Given the description of an element on the screen output the (x, y) to click on. 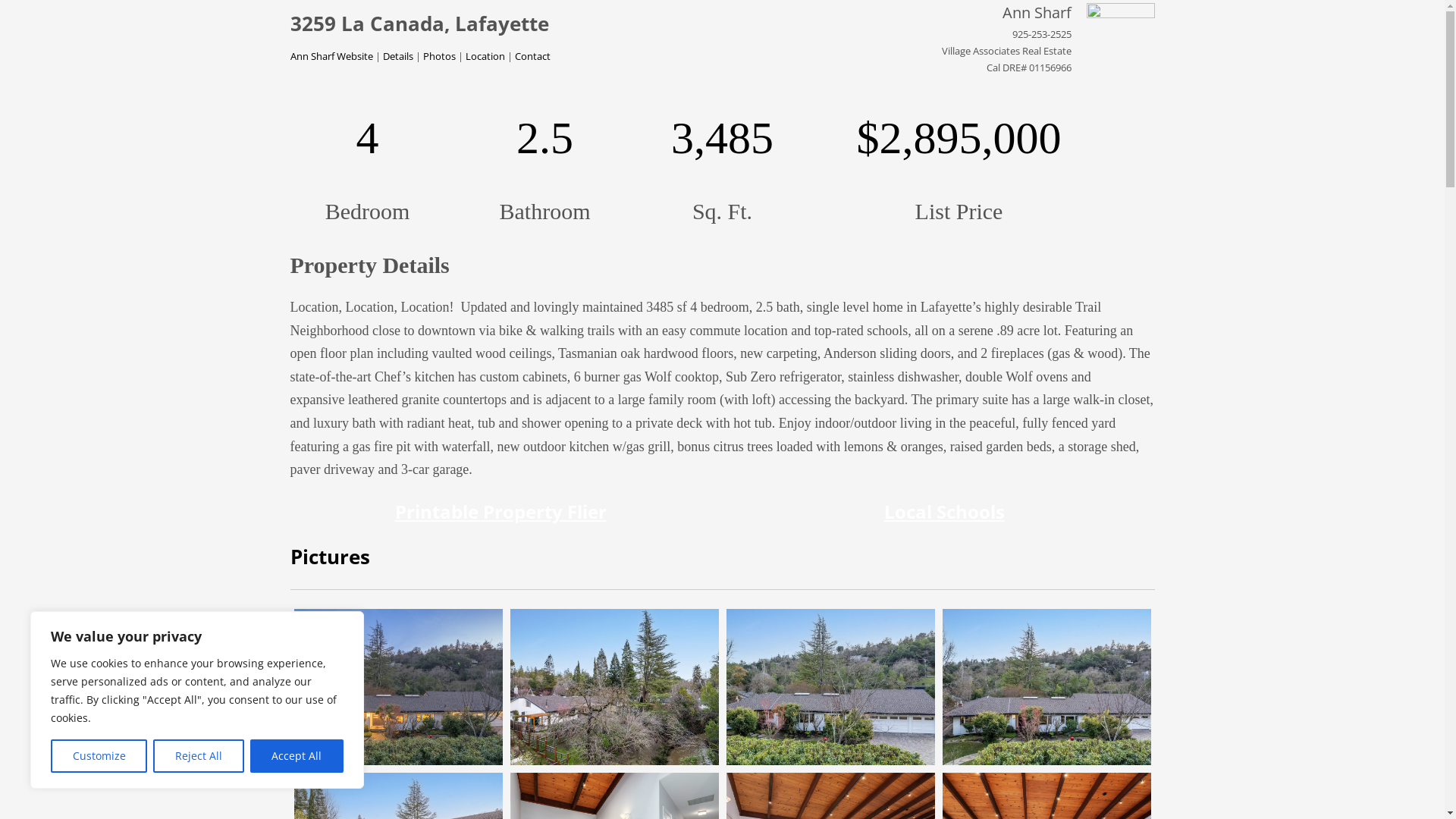
Accept All Element type: text (296, 755)
Details Element type: text (397, 55)
Reject All Element type: text (198, 755)
Customize Element type: text (98, 755)
Local Schools Element type: text (944, 514)
Contact Element type: text (531, 55)
Photos Element type: text (439, 55)
Ann Sharf Website Element type: text (330, 55)
Location Element type: text (485, 55)
TourID:3050347~ Ann Sharf, 3259 La Canada Lafayette, 94549 Element type: hover (830, 686)
TourID:3050347~ Ann Sharf, 3259 La Canada Lafayette, 94549 Element type: hover (398, 686)
TourID:3050347~ Ann Sharf, 3259 La Canada Lafayette, 94549 Element type: hover (613, 686)
Printable Property Flier Element type: text (499, 514)
TourID:3050347~ Ann Sharf, 3259 La Canada Lafayette, 94549 Element type: hover (1045, 686)
